Given the description of an element on the screen output the (x, y) to click on. 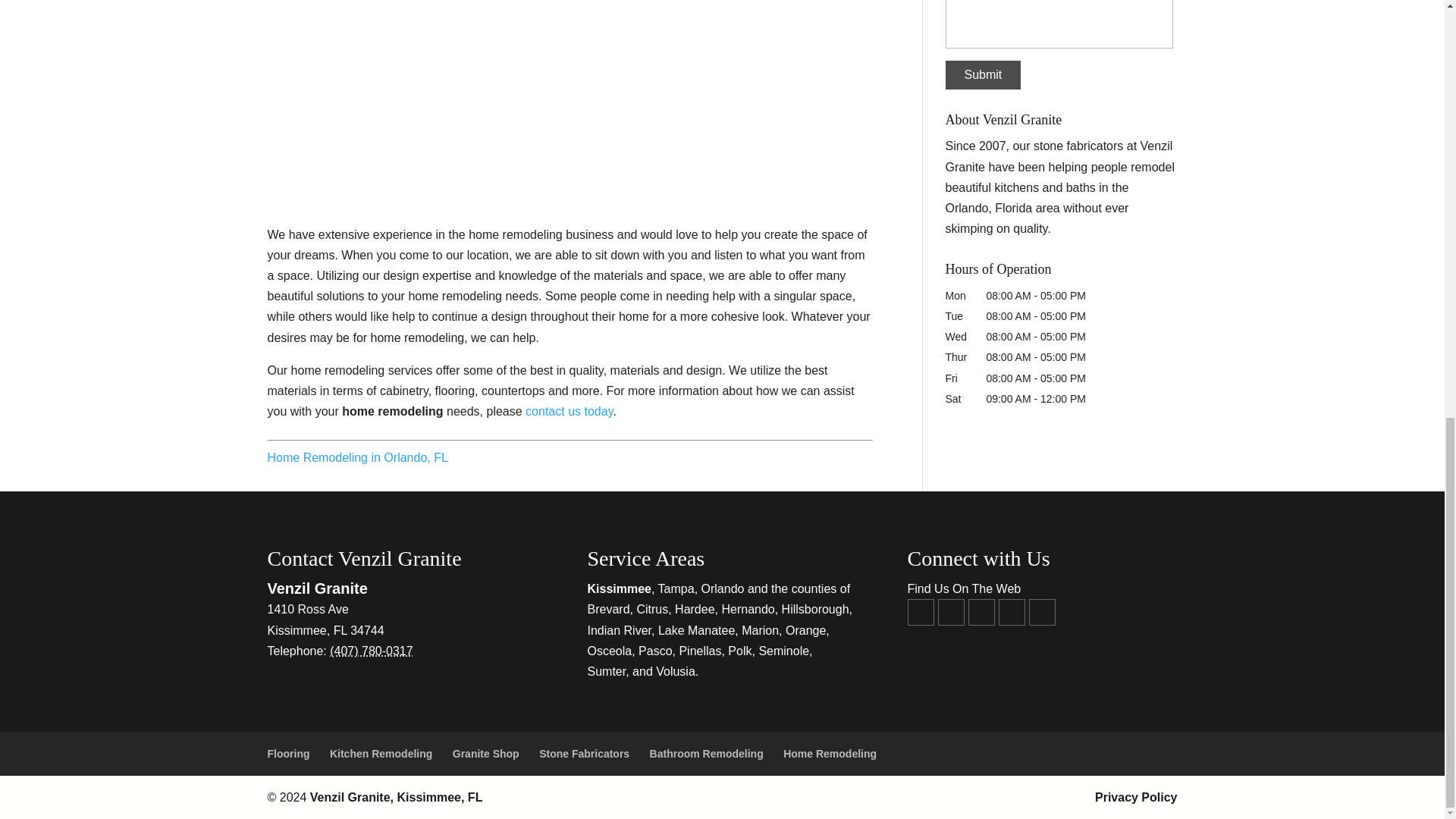
Facebook (920, 611)
contact us today (568, 410)
Submit (982, 74)
Home Remodeling in Orlando, FL (356, 457)
Google My Business (981, 611)
Jackpage (1040, 611)
Submit (982, 74)
YouTube (950, 611)
Google Mini Site (1011, 611)
